Given the description of an element on the screen output the (x, y) to click on. 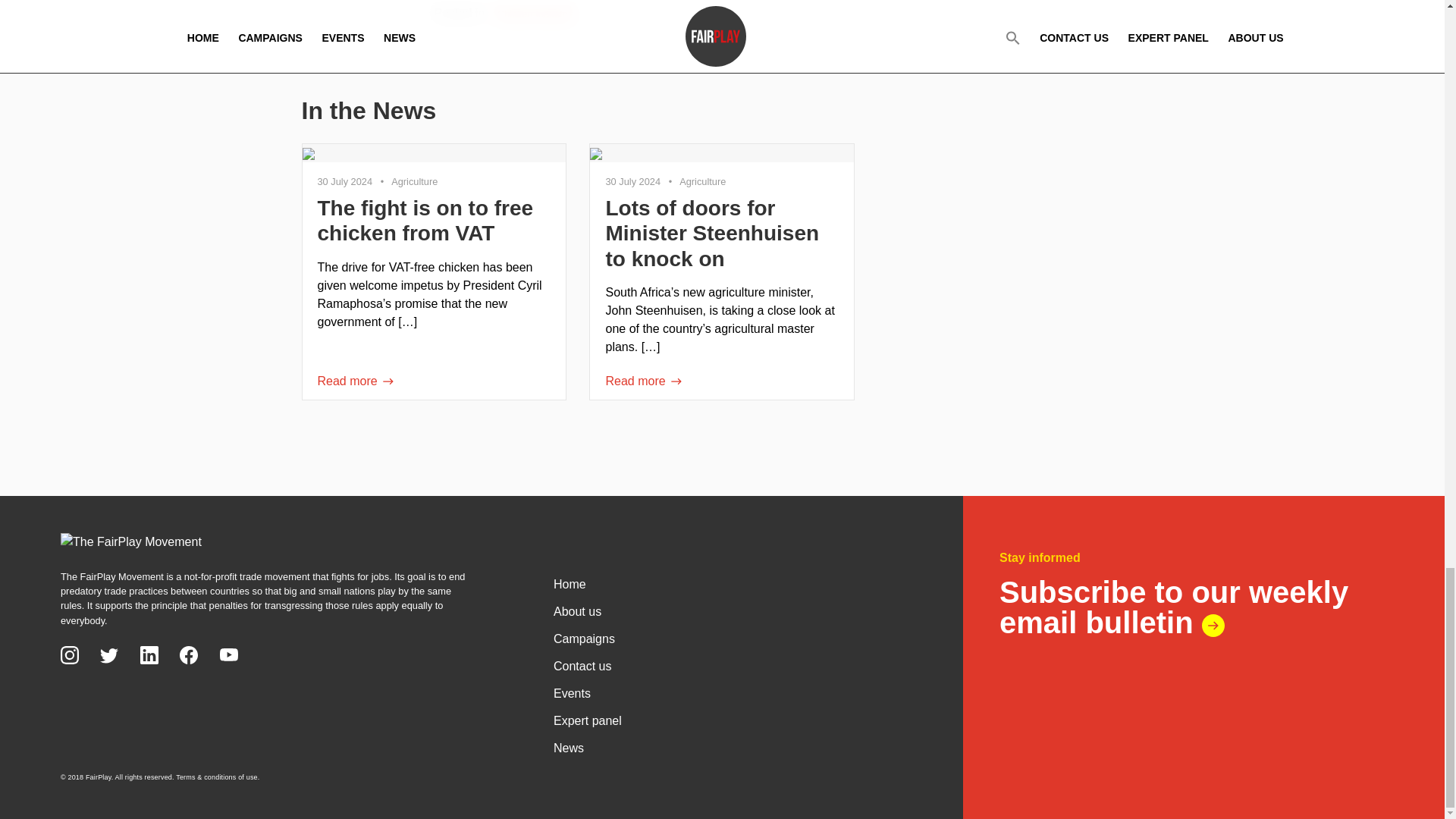
Expert panel (733, 719)
Campaigns (733, 637)
About us (733, 610)
Events (733, 691)
Contact us (733, 664)
Home (733, 583)
News (733, 746)
Chicken Industry (534, 13)
